Given the description of an element on the screen output the (x, y) to click on. 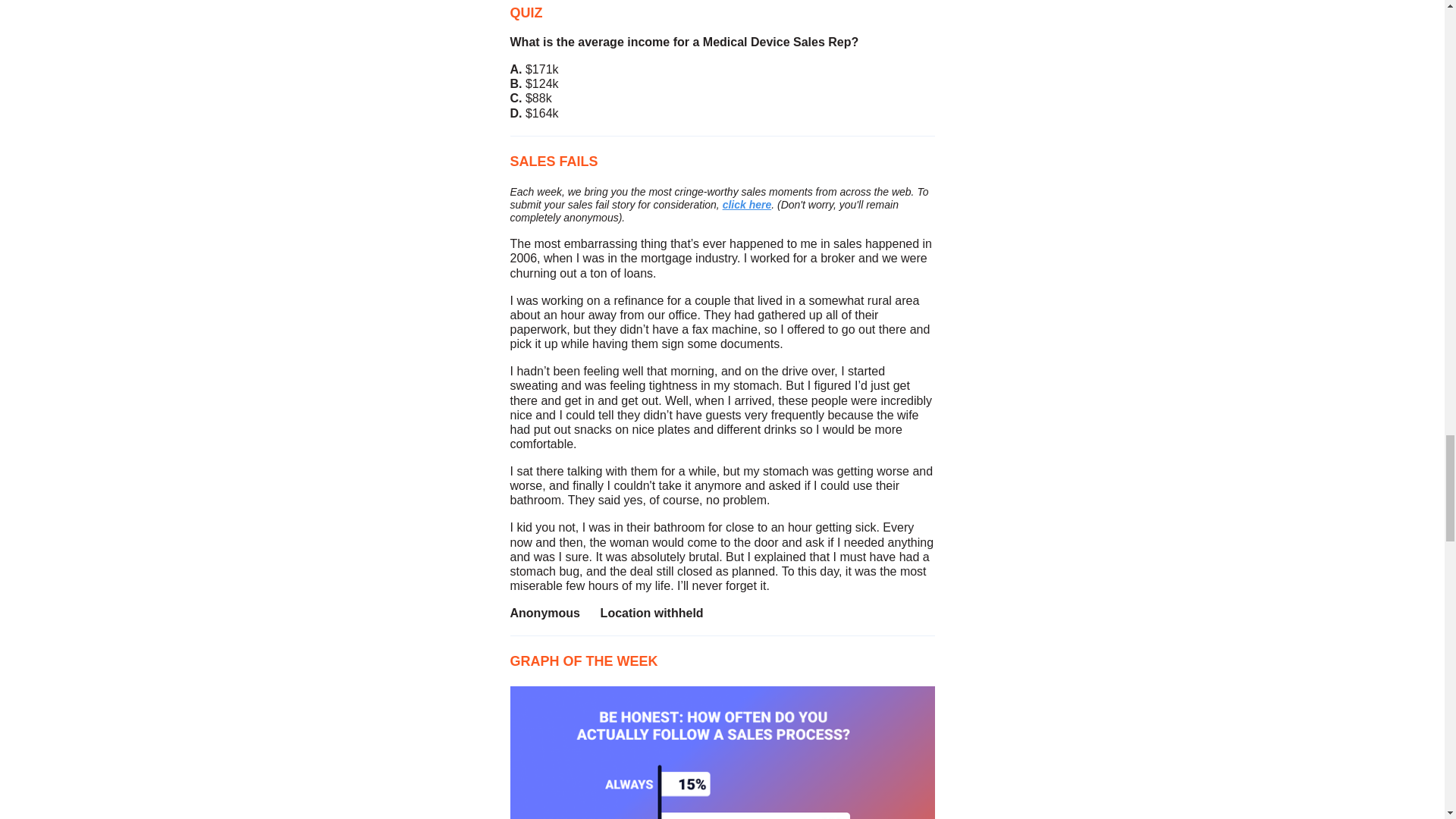
click here (746, 204)
